Given the description of an element on the screen output the (x, y) to click on. 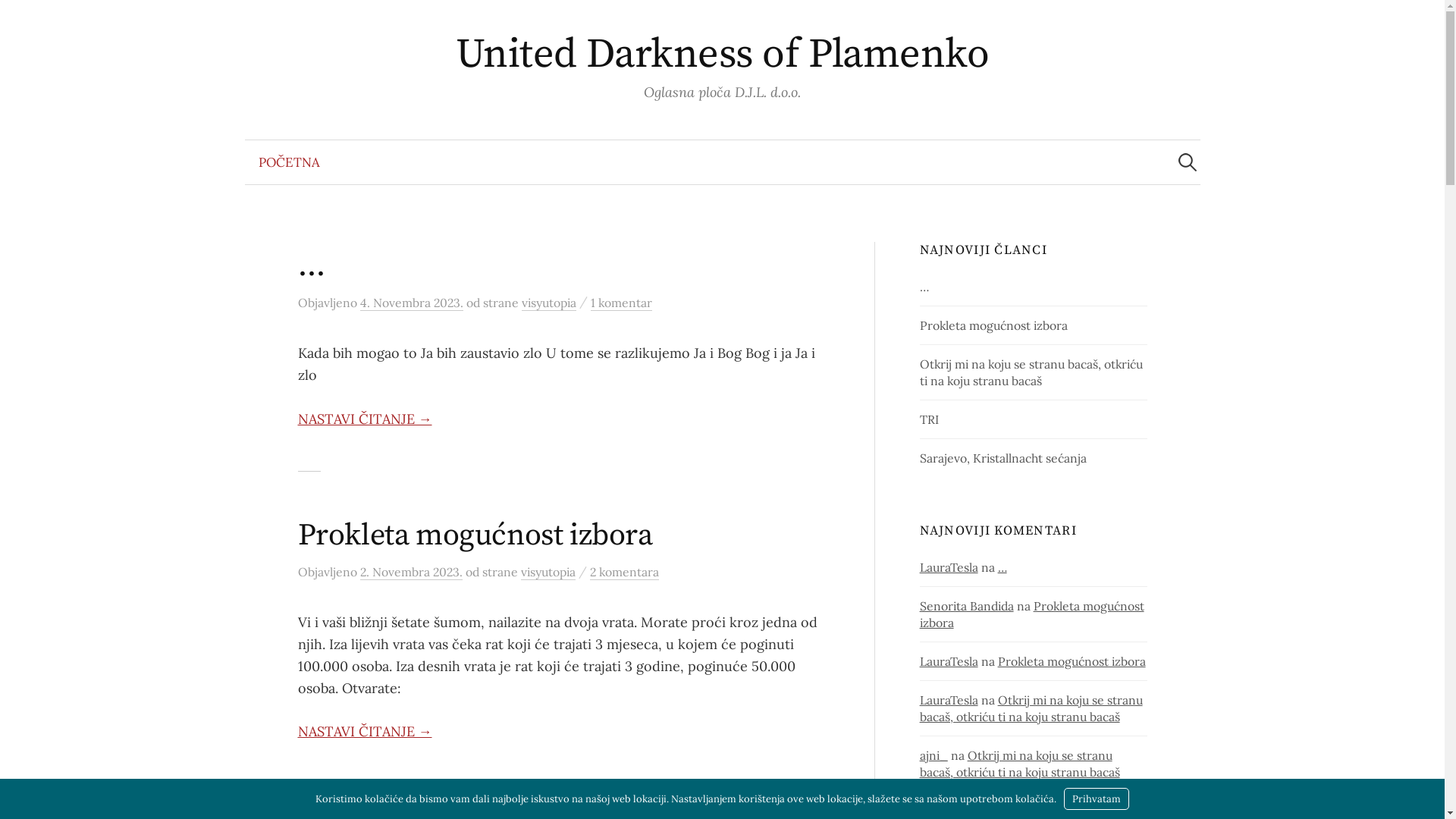
visyutopia Element type: text (547, 572)
Pretraga Element type: text (18, 18)
Prihvatam Element type: text (1096, 798)
TRI Element type: text (928, 418)
4. Novembra 2023. Element type: text (410, 302)
2. Novembra 2023. Element type: text (410, 572)
LauraTesla Element type: text (948, 660)
visyutopia Element type: text (548, 302)
ajni_ Element type: text (933, 754)
LauraTesla Element type: text (948, 699)
United Darkness of Plamenko Element type: text (721, 54)
LauraTesla Element type: text (948, 566)
Senorita Bandida Element type: text (966, 605)
